Given the description of an element on the screen output the (x, y) to click on. 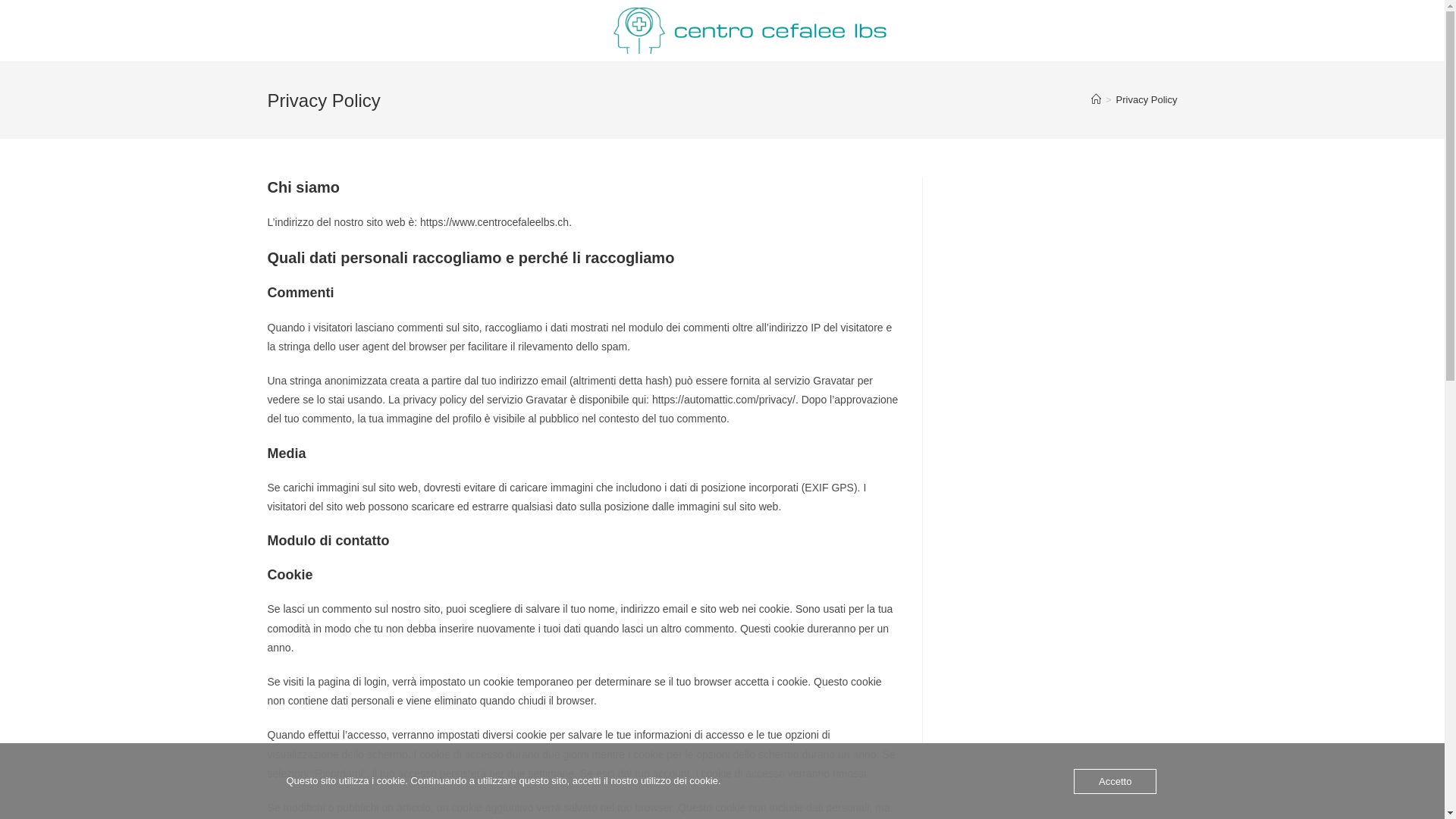
Accetto Element type: text (1114, 780)
Privacy Policy Element type: text (1146, 99)
